Given the description of an element on the screen output the (x, y) to click on. 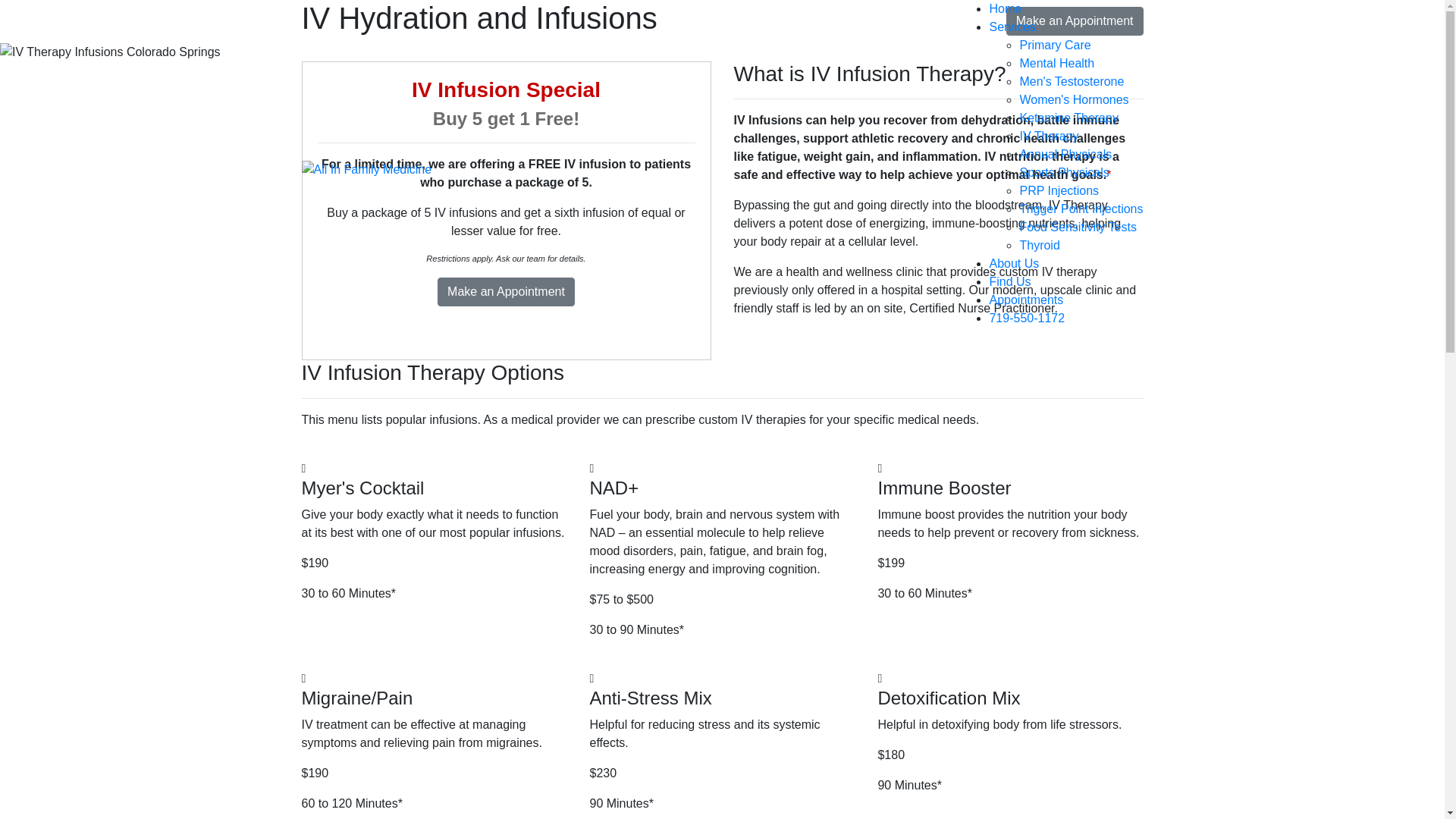
Food Sensitivity Tests (1077, 226)
Sports Physicals (1063, 172)
Make an Appointment (506, 291)
PRP Injections (1059, 190)
Appointments (1025, 299)
Find Us (1009, 281)
IV Therapy (1048, 135)
Primary Care (1054, 44)
Annual Physicals (1065, 154)
Make an Appointment (1074, 21)
